Given the description of an element on the screen output the (x, y) to click on. 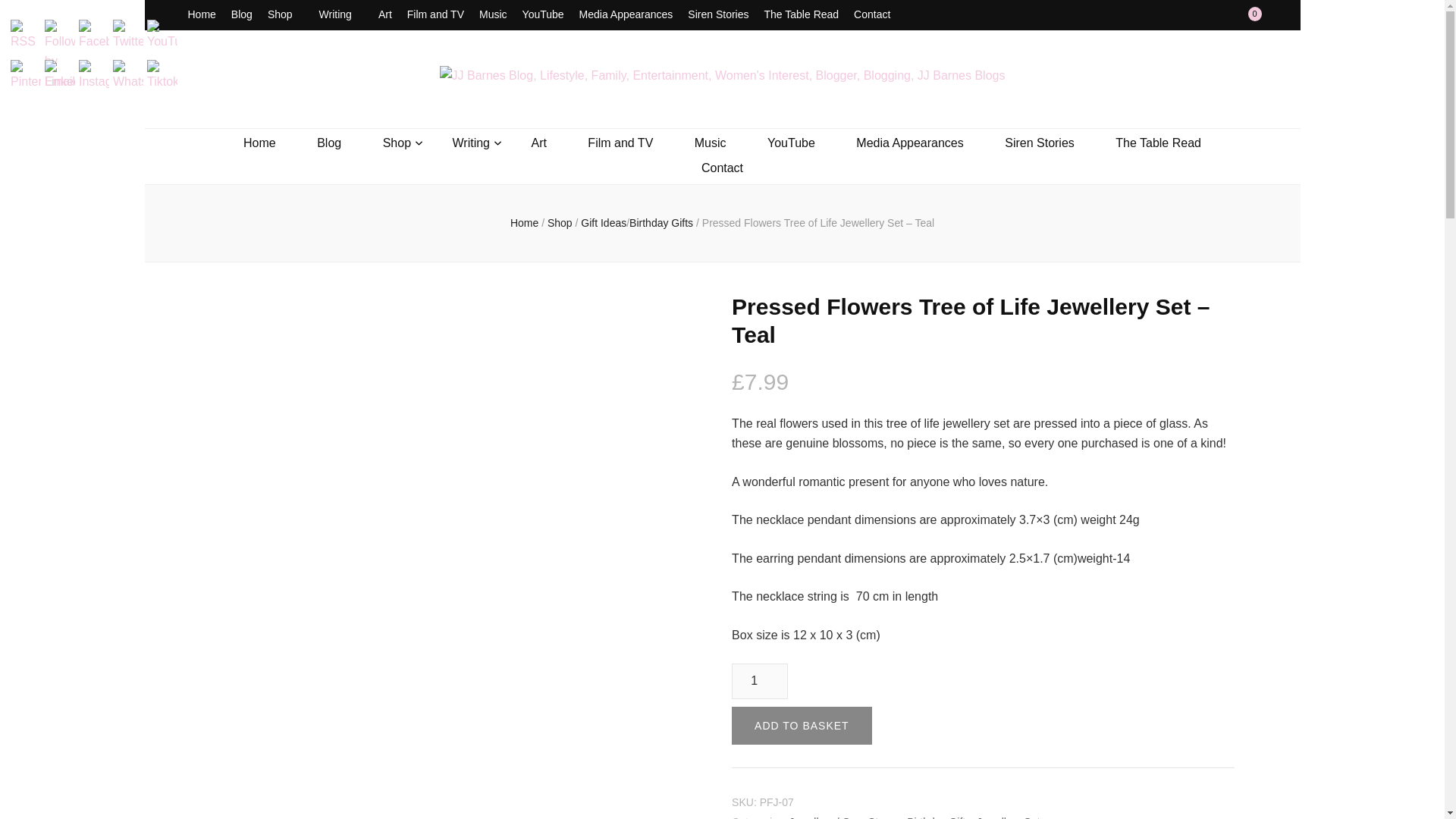
Shop (285, 15)
1 (759, 681)
Home (201, 15)
